Given the description of an element on the screen output the (x, y) to click on. 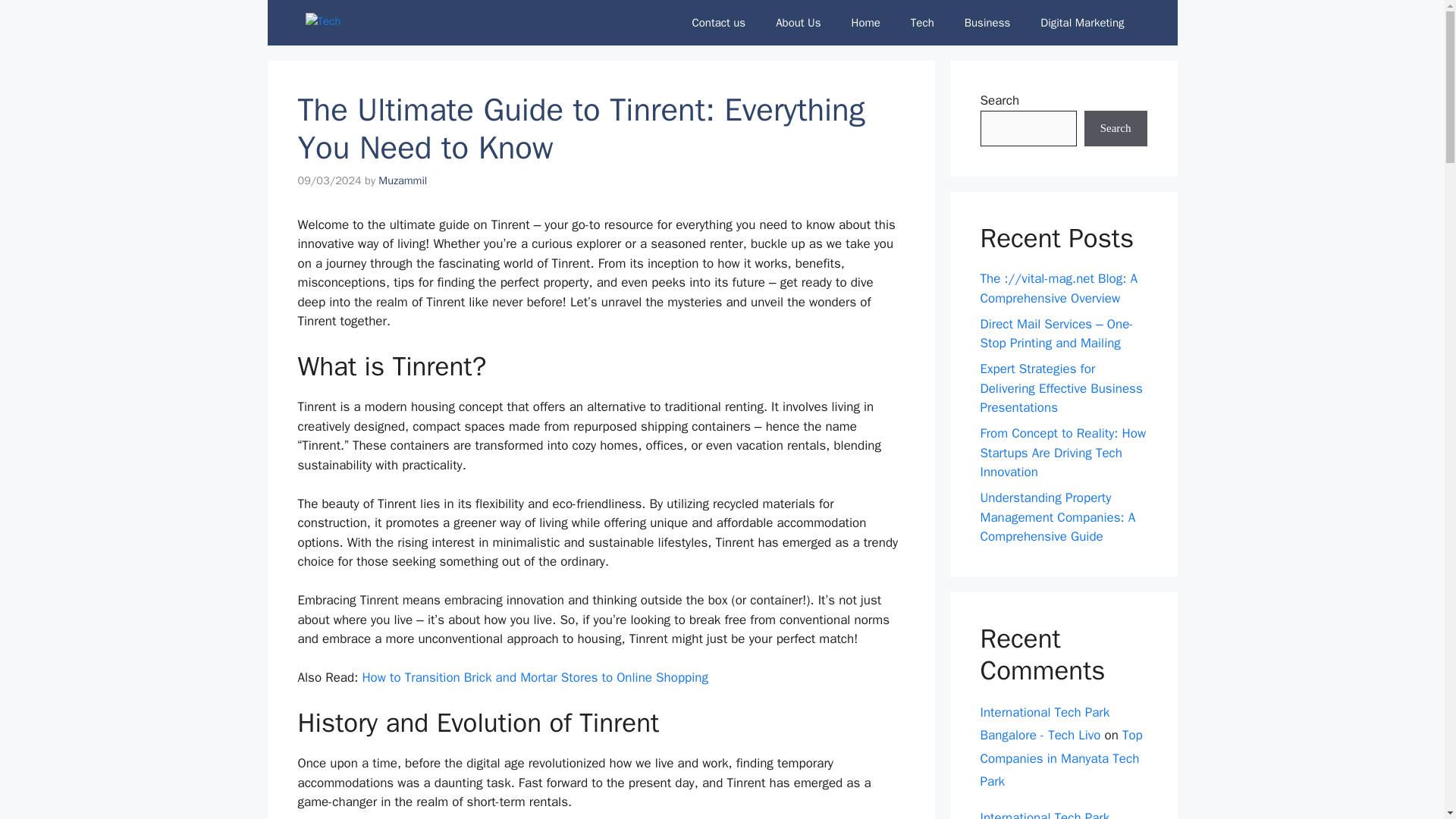
Home (865, 22)
View all posts by Muzammil (402, 180)
About Us (797, 22)
Digital Marketing (1081, 22)
Contact us (718, 22)
Search (1115, 128)
How to Transition Brick and Mortar Stores to Online Shopping (534, 677)
Business (987, 22)
Tech (922, 22)
